Given the description of an element on the screen output the (x, y) to click on. 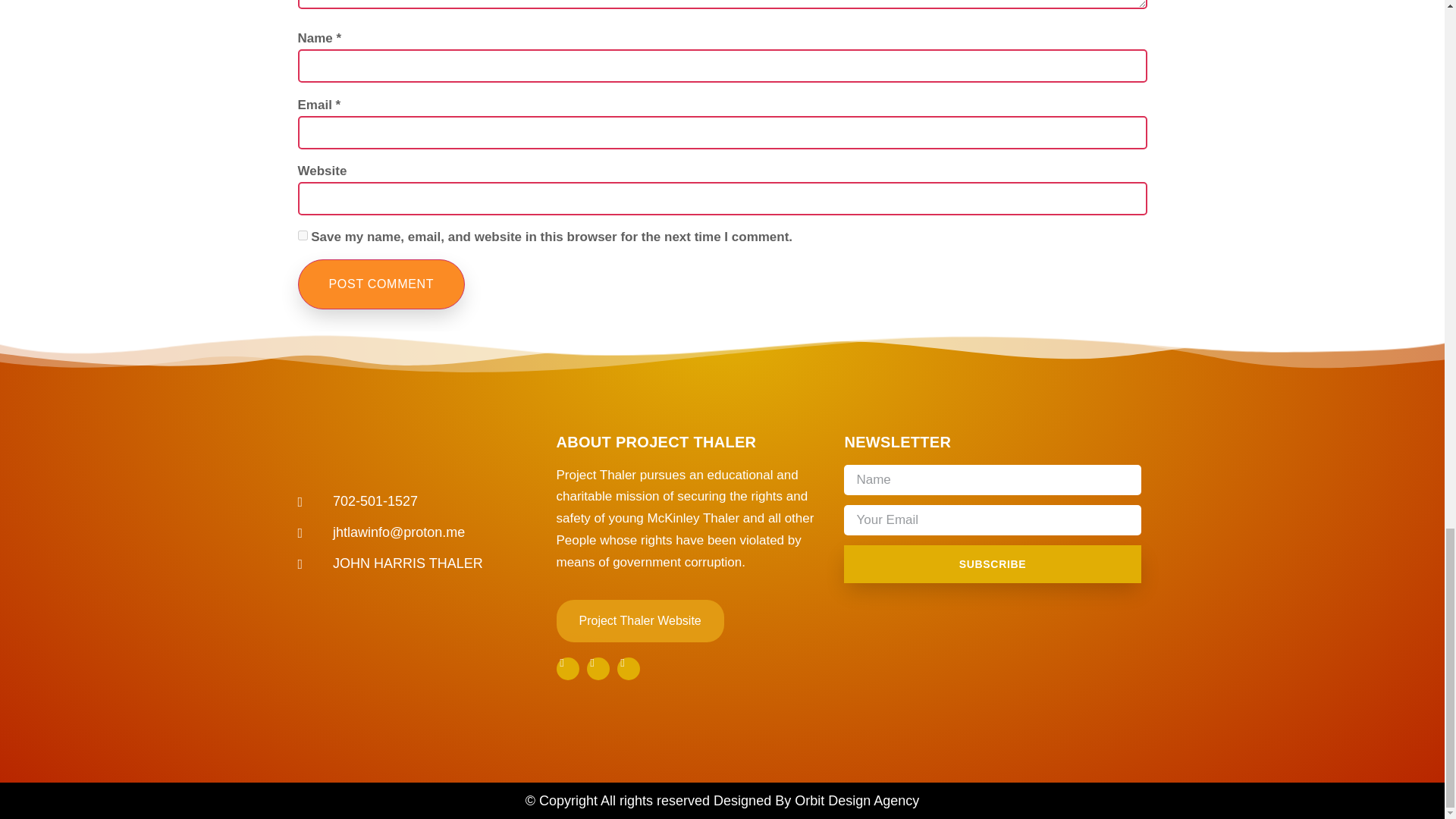
yes (302, 235)
Post Comment (380, 284)
